Given the description of an element on the screen output the (x, y) to click on. 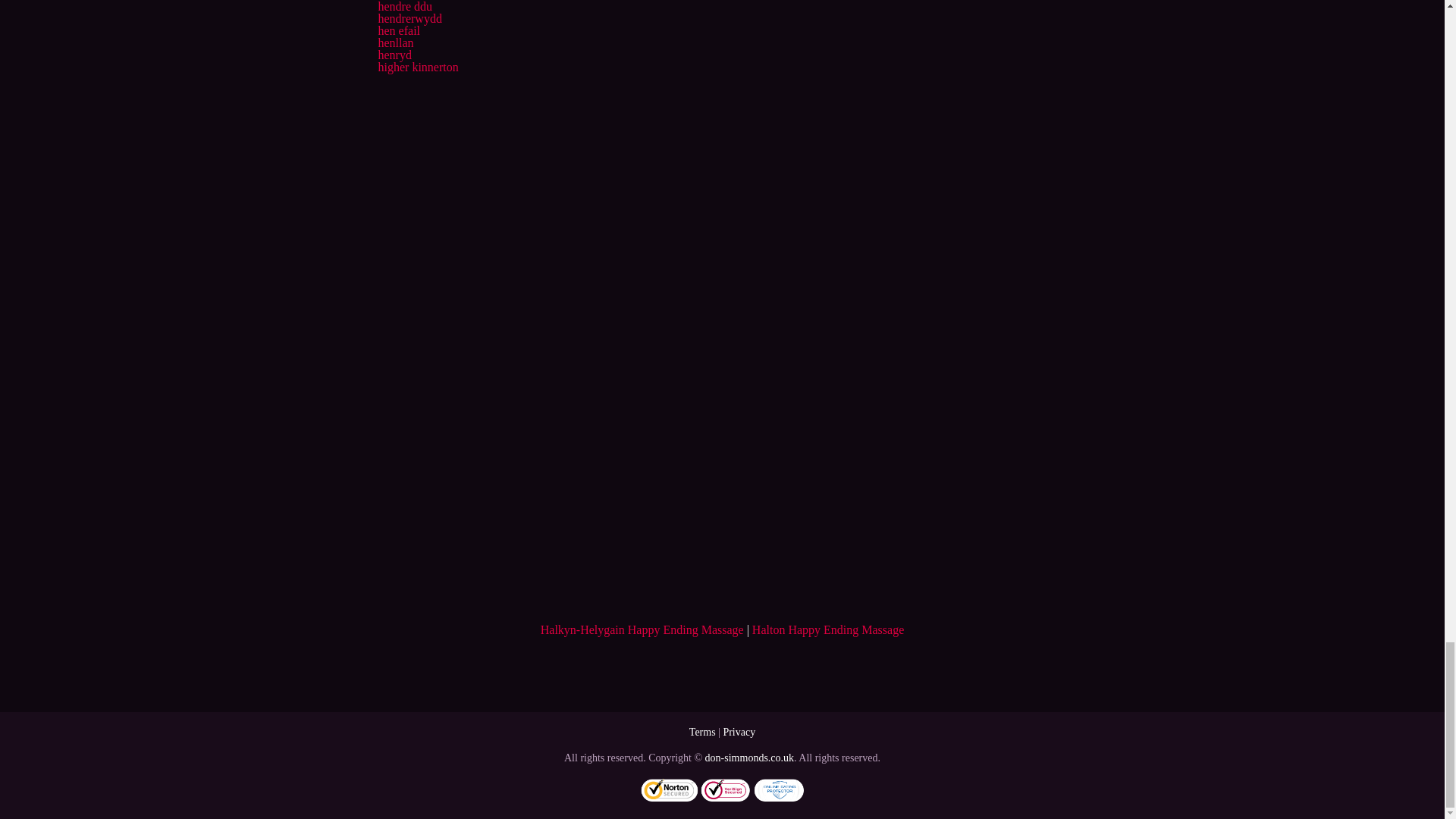
Halton Happy Ending Massage (828, 629)
henryd (393, 54)
Terms (702, 731)
Privacy (738, 731)
Halkyn-Helygain Happy Ending Massage (642, 629)
hendre ddu (404, 6)
Privacy (738, 731)
Terms (702, 731)
higher kinnerton (417, 66)
hen efail (398, 30)
henllan (395, 42)
hendrerwydd (409, 18)
don-simmonds.co.uk (748, 757)
